Given the description of an element on the screen output the (x, y) to click on. 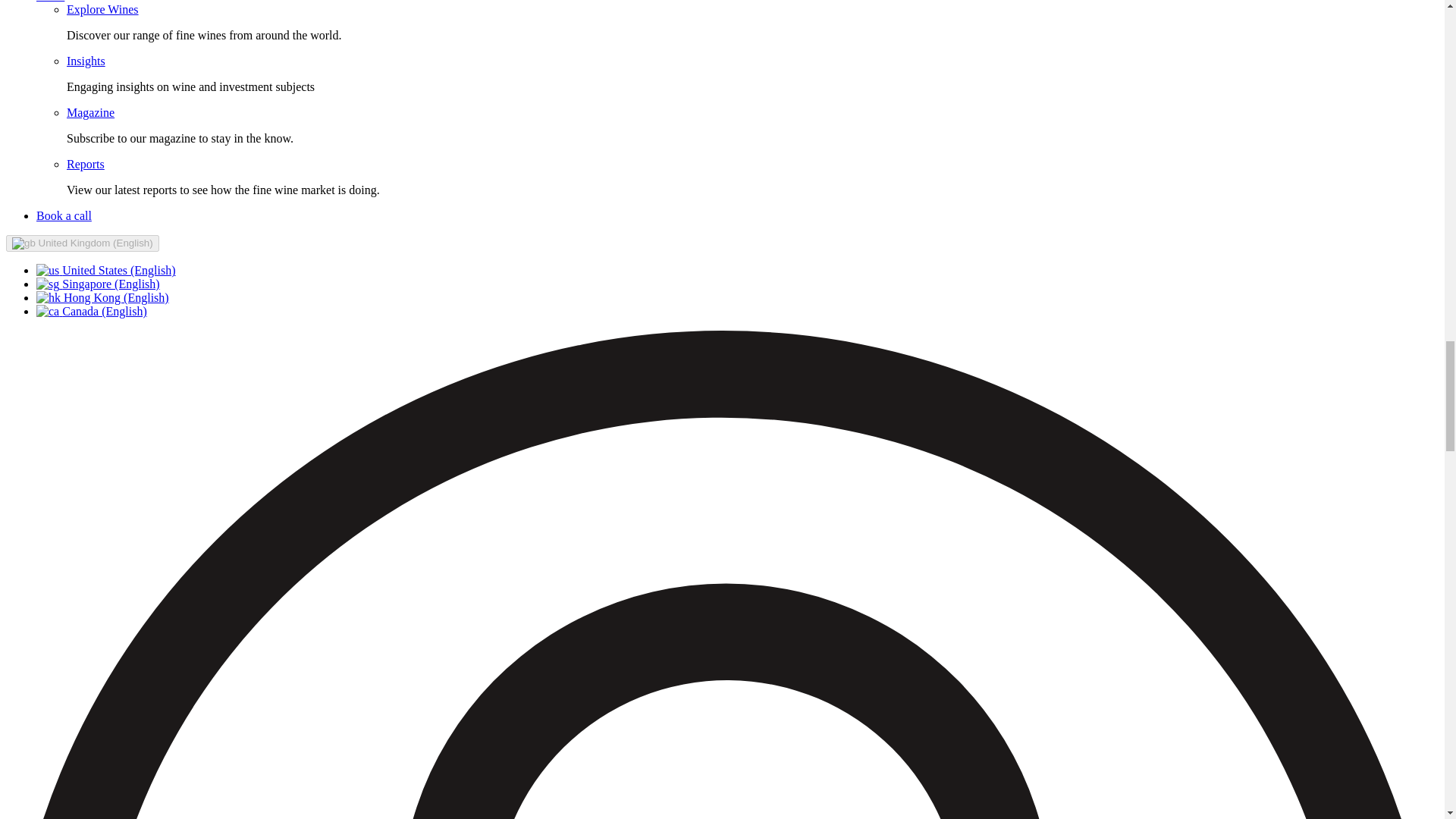
Insights (85, 60)
Book a call (63, 215)
Reports (85, 164)
Learn (50, 1)
Magazine (90, 112)
Explore Wines (102, 9)
